Given the description of an element on the screen output the (x, y) to click on. 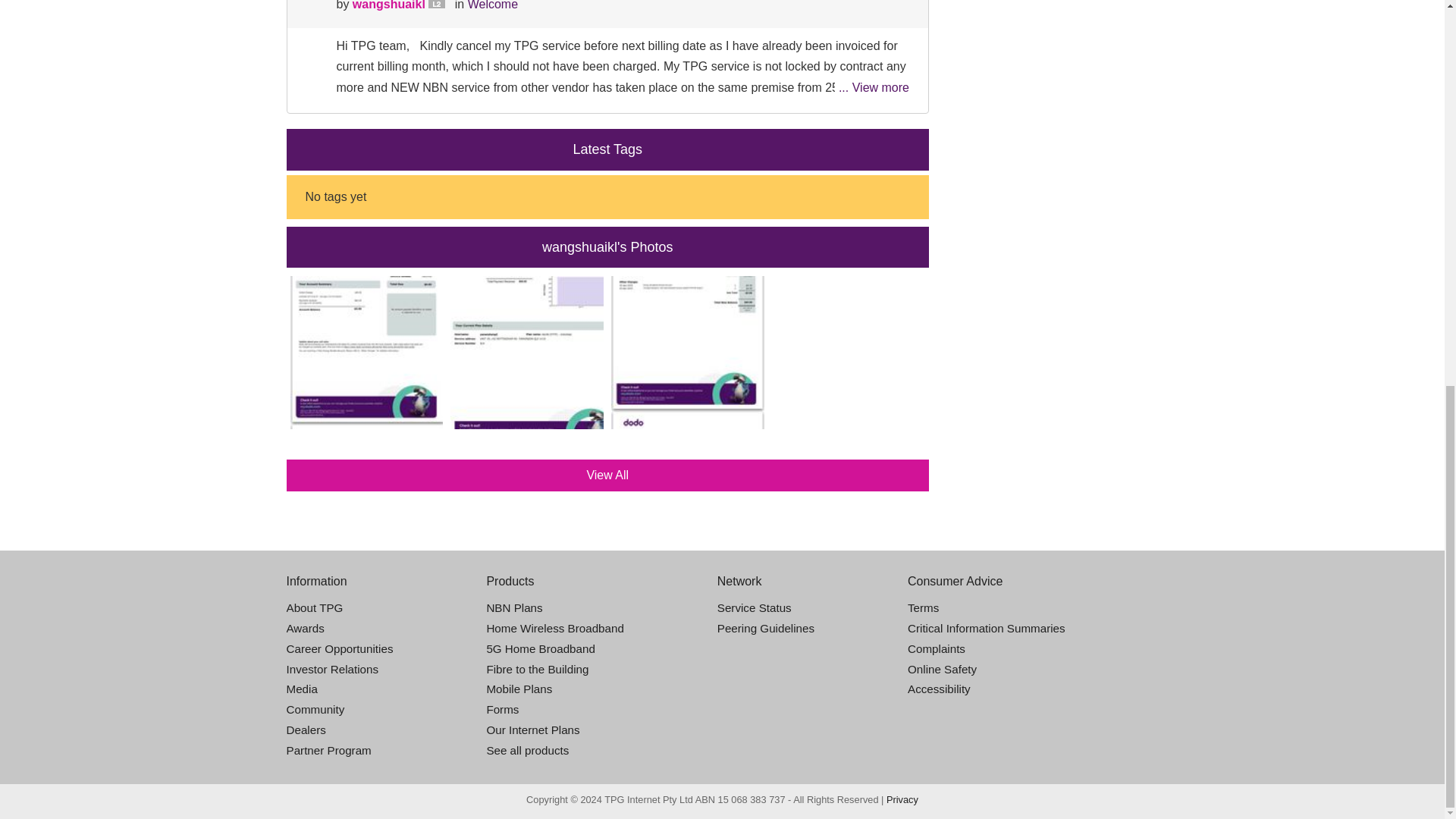
1746506945.jpg (365, 352)
Forum (309, 1)
1899017079.jpg (526, 352)
Level 2 (439, 5)
1115008852.jpg (687, 352)
